Given the description of an element on the screen output the (x, y) to click on. 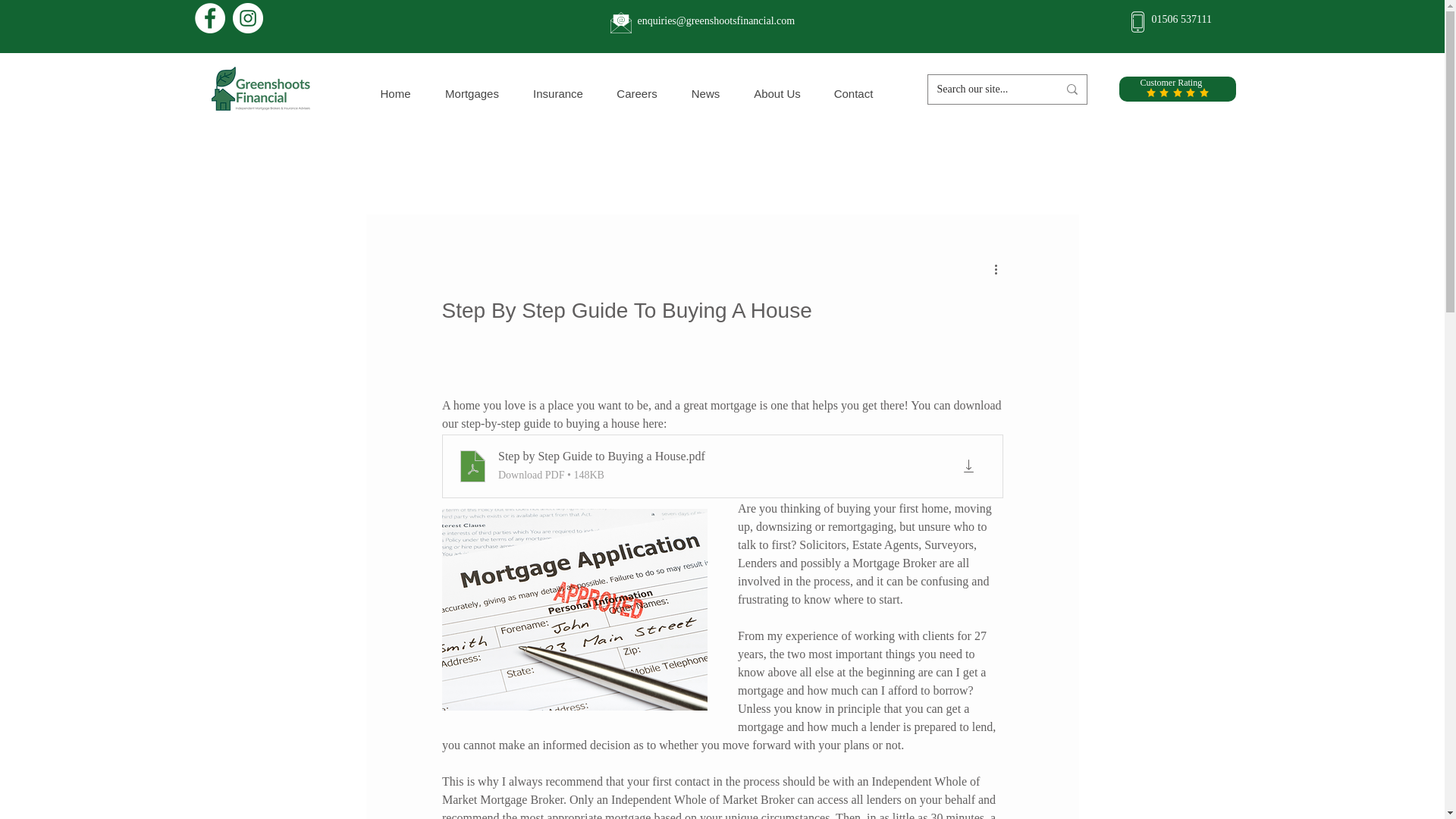
Contact (852, 93)
Mortgages (472, 93)
Careers (635, 93)
News (704, 93)
Home (396, 93)
About Us (776, 93)
Insurance (556, 93)
